Given the description of an element on the screen output the (x, y) to click on. 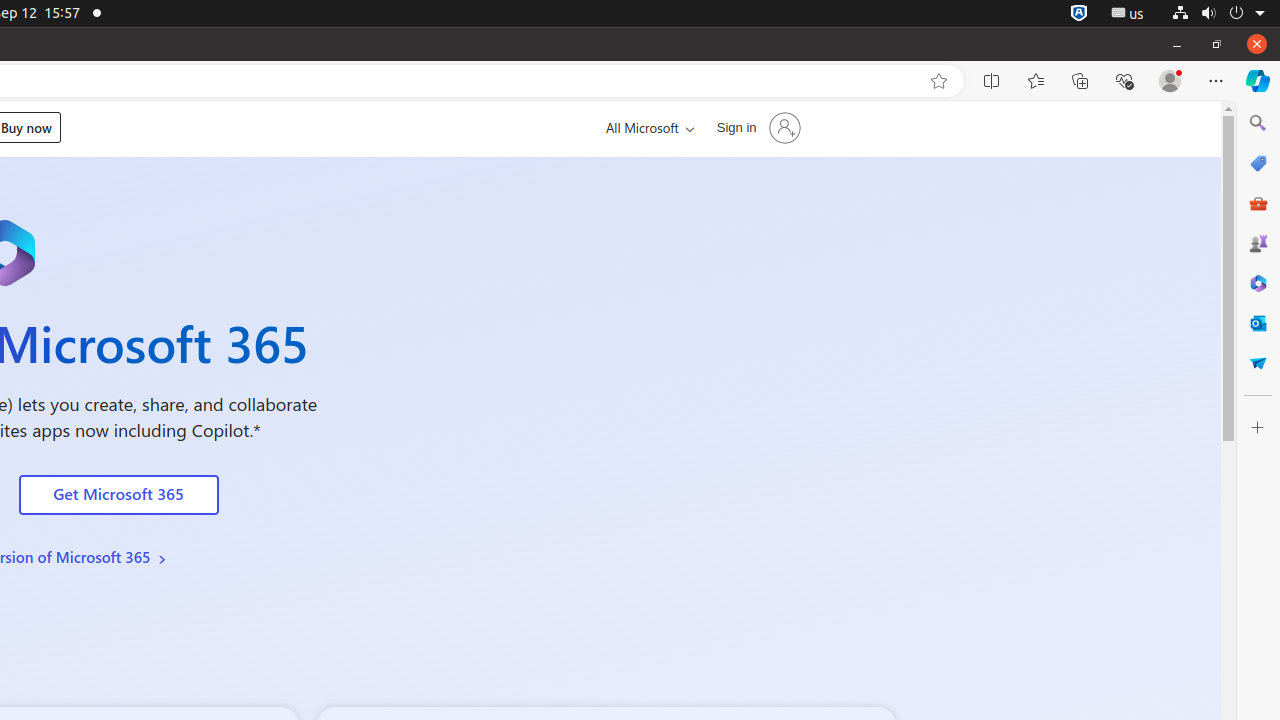
Split screen Element type: push-button (992, 81)
Microsoft Shopping Element type: push-button (1258, 163)
Profile 1 Profile, Please sign in Element type: push-button (1170, 81)
Collections Element type: push-button (1080, 81)
Browser essentials Element type: push-button (1124, 81)
